Given the description of an element on the screen output the (x, y) to click on. 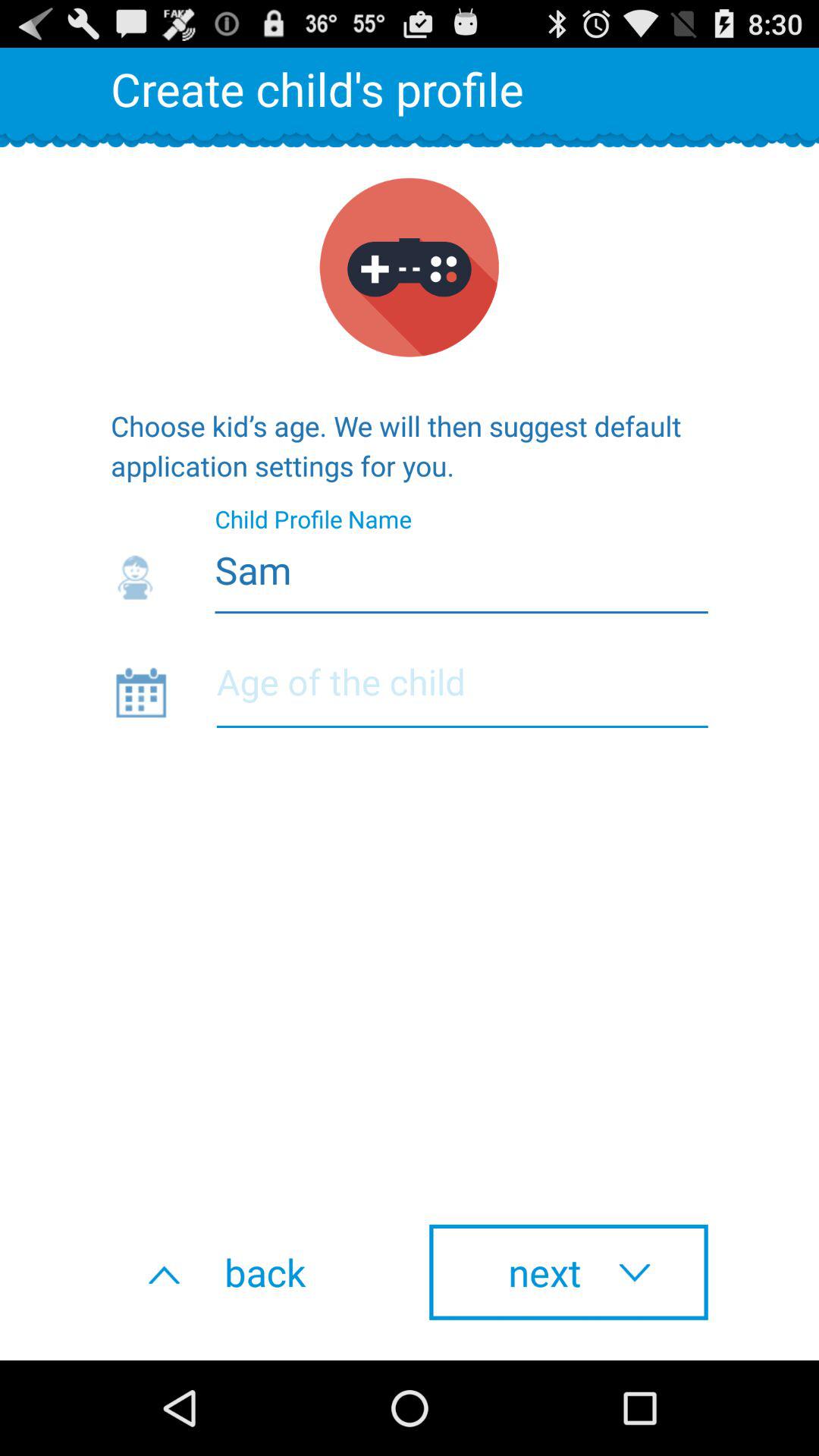
press the back item (249, 1272)
